Given the description of an element on the screen output the (x, y) to click on. 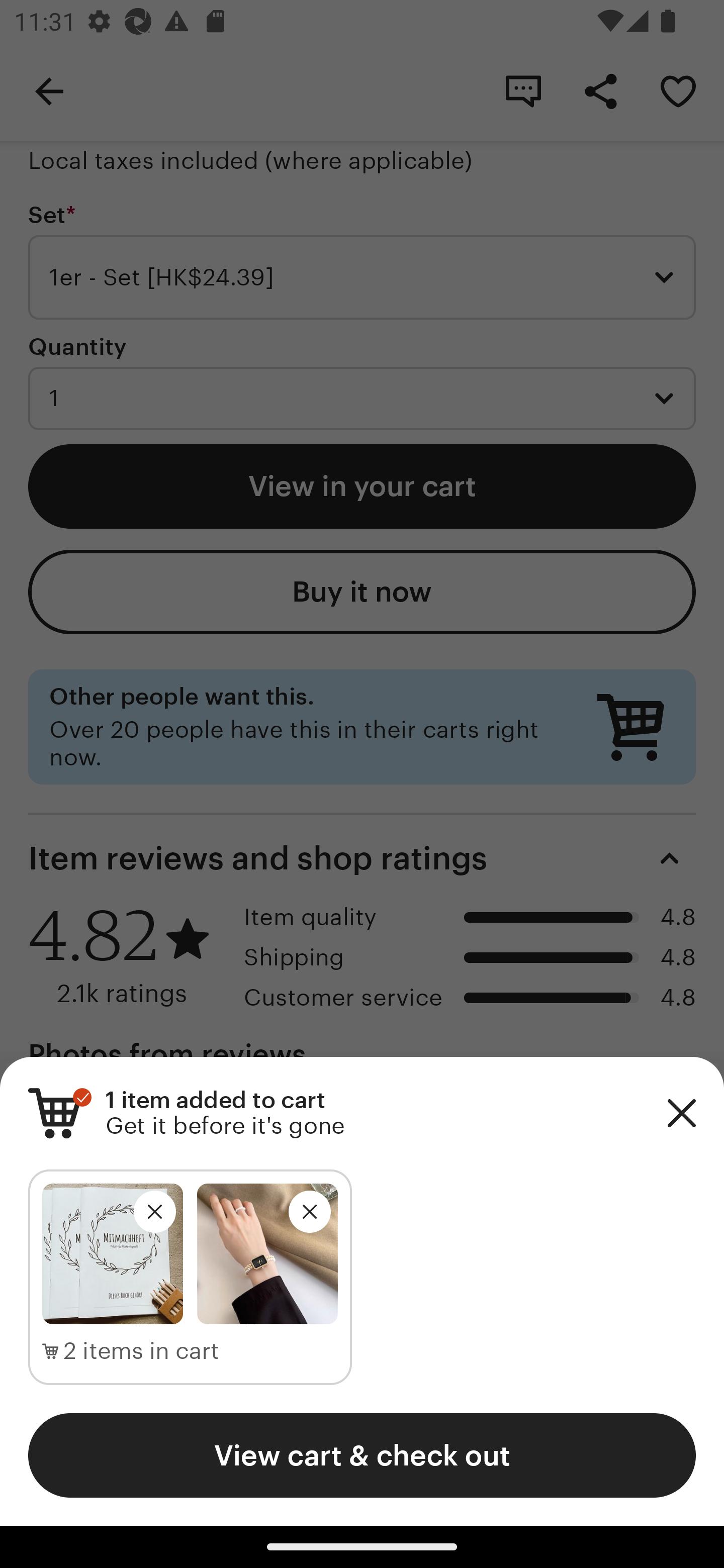
2 items in cart (130, 1351)
View cart & check out (361, 1454)
